Given the description of an element on the screen output the (x, y) to click on. 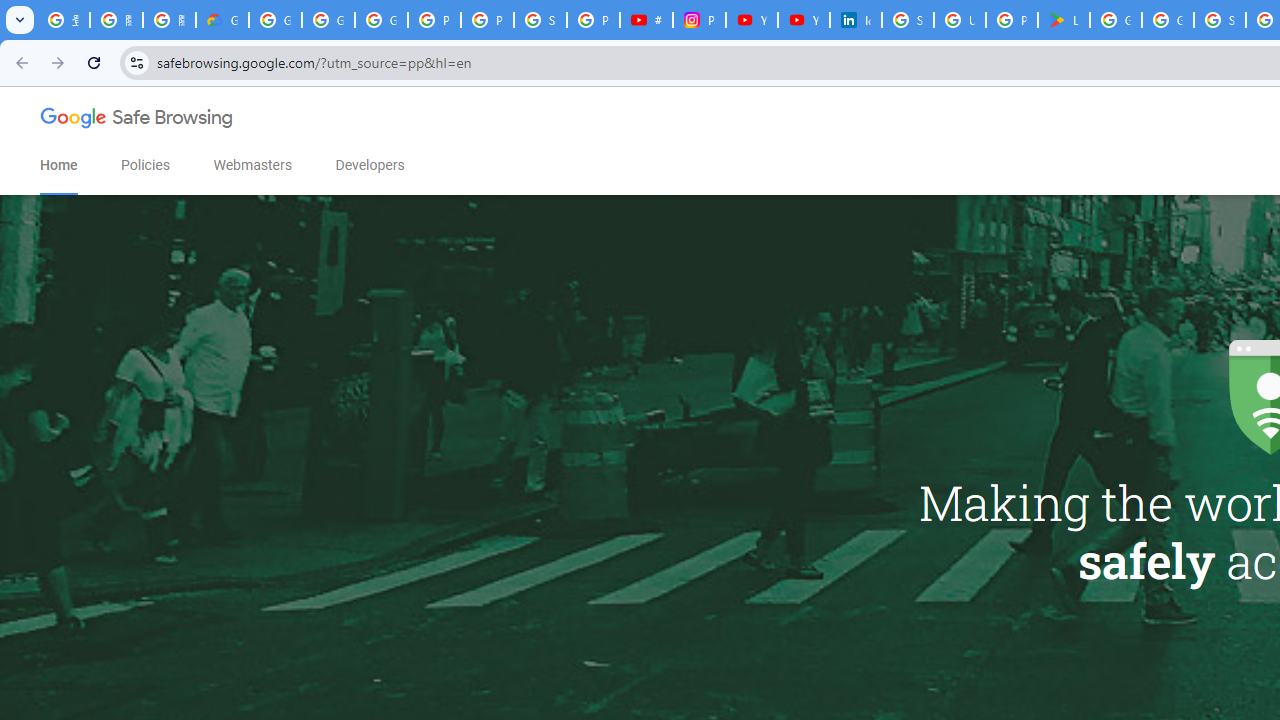
YouTube Culture & Trends - YouTube Top 10, 2021 (803, 20)
Policies (145, 165)
YouTube Culture & Trends - On The Rise: Handcam Videos (751, 20)
